Given the description of an element on the screen output the (x, y) to click on. 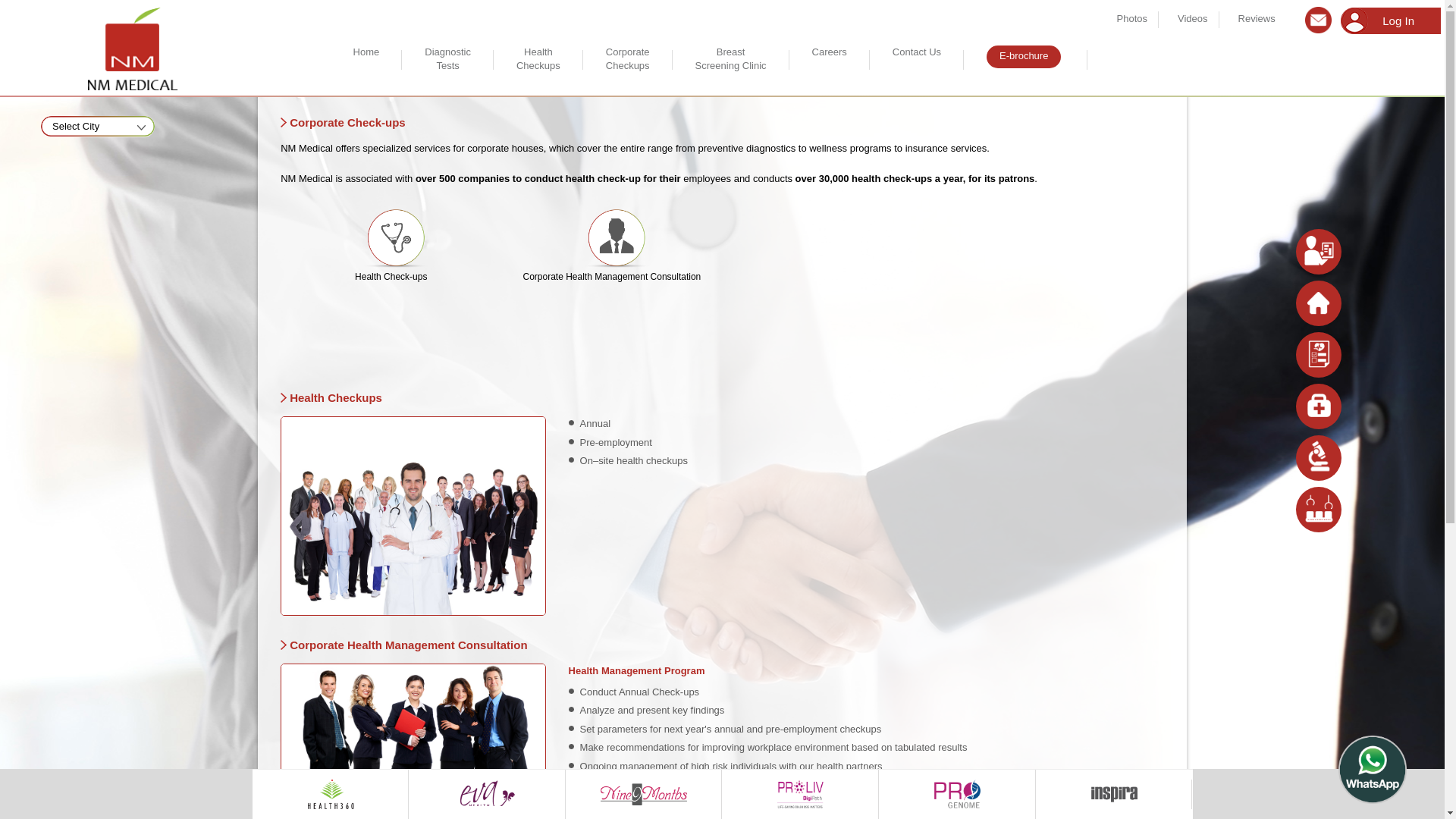
Careers (829, 64)
Photos (1131, 21)
E-brochure (1024, 56)
Contact Us (731, 71)
Videos (447, 71)
Reviews (916, 64)
Log In (1192, 21)
